Given the description of an element on the screen output the (x, y) to click on. 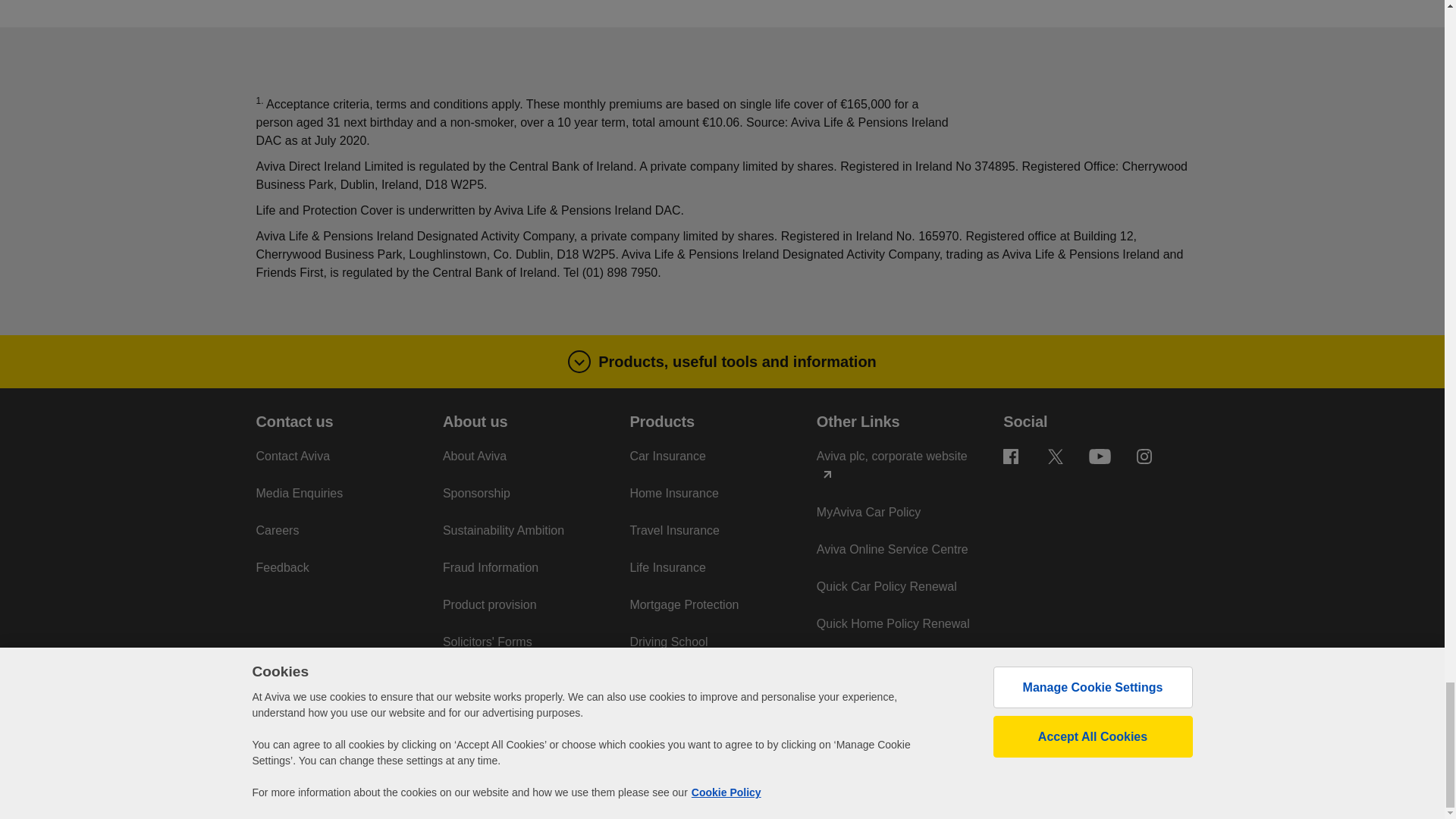
Aviva's Ireland Twitter page (1055, 456)
Aviva's Ireland YouTube page (1099, 456)
Aviva's Ireland Facebook page (1010, 456)
Aviva's Ireland Instagram page (1143, 456)
